Given the description of an element on the screen output the (x, y) to click on. 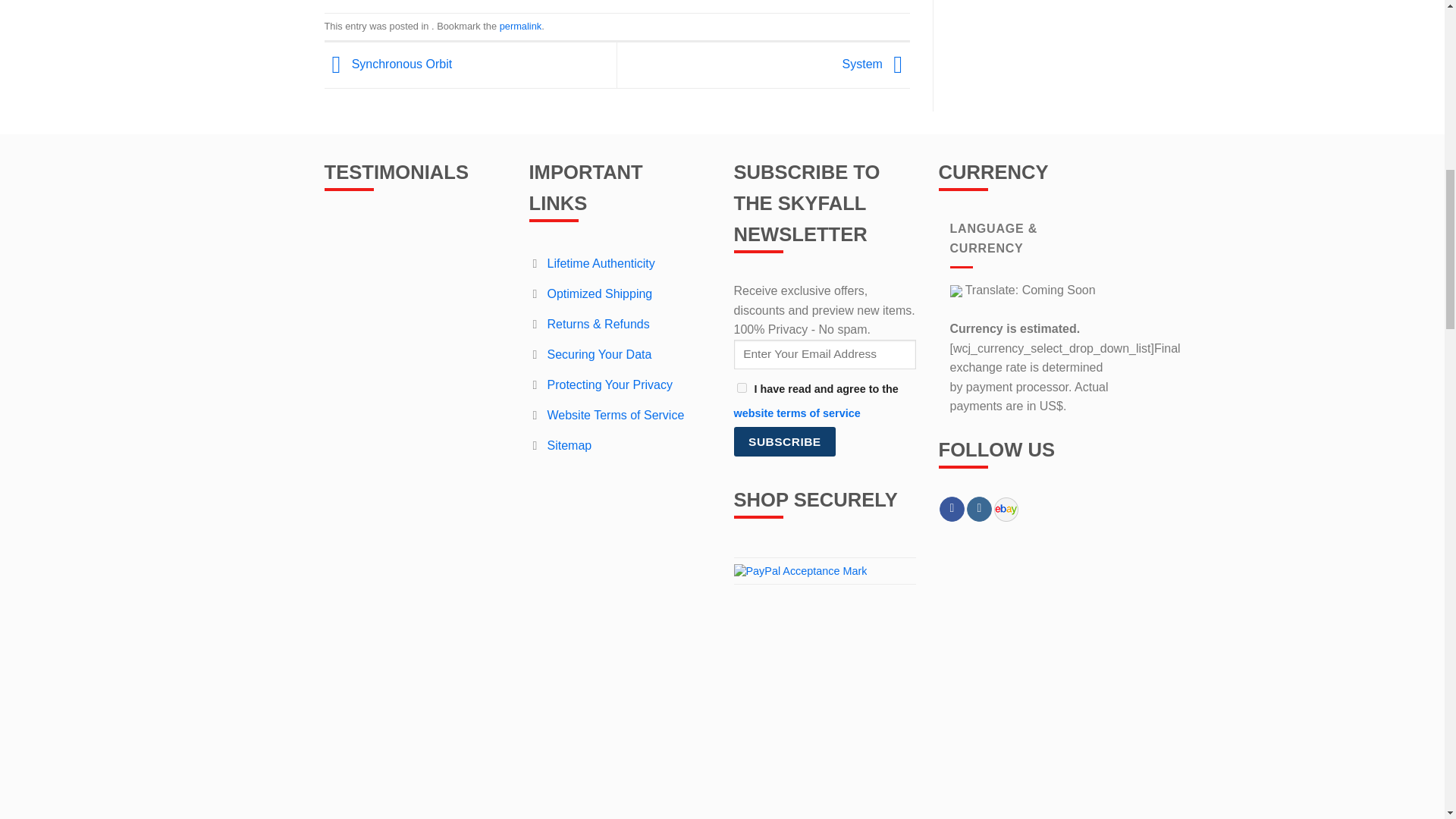
Subscribe (784, 659)
1 (741, 606)
Follow on Facebook (951, 727)
Email to a Friend (630, 190)
Follow on Instagram (978, 727)
Permalink to Synchrotron Emission (520, 244)
Share on Facebook (603, 190)
Follow on Ebay (1000, 727)
How PayPal Works (800, 788)
